Given the description of an element on the screen output the (x, y) to click on. 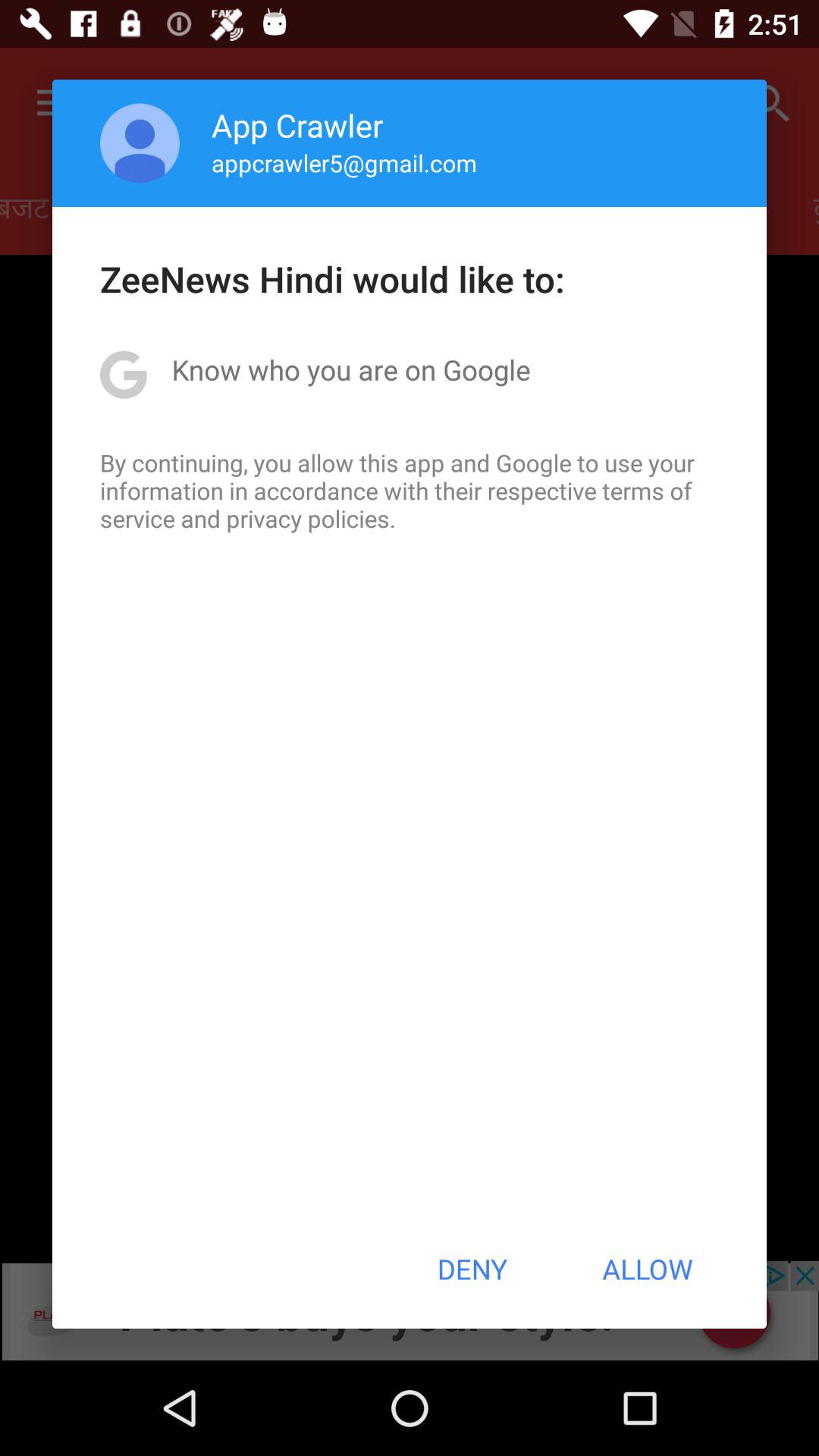
scroll until the app crawler item (297, 124)
